Given the description of an element on the screen output the (x, y) to click on. 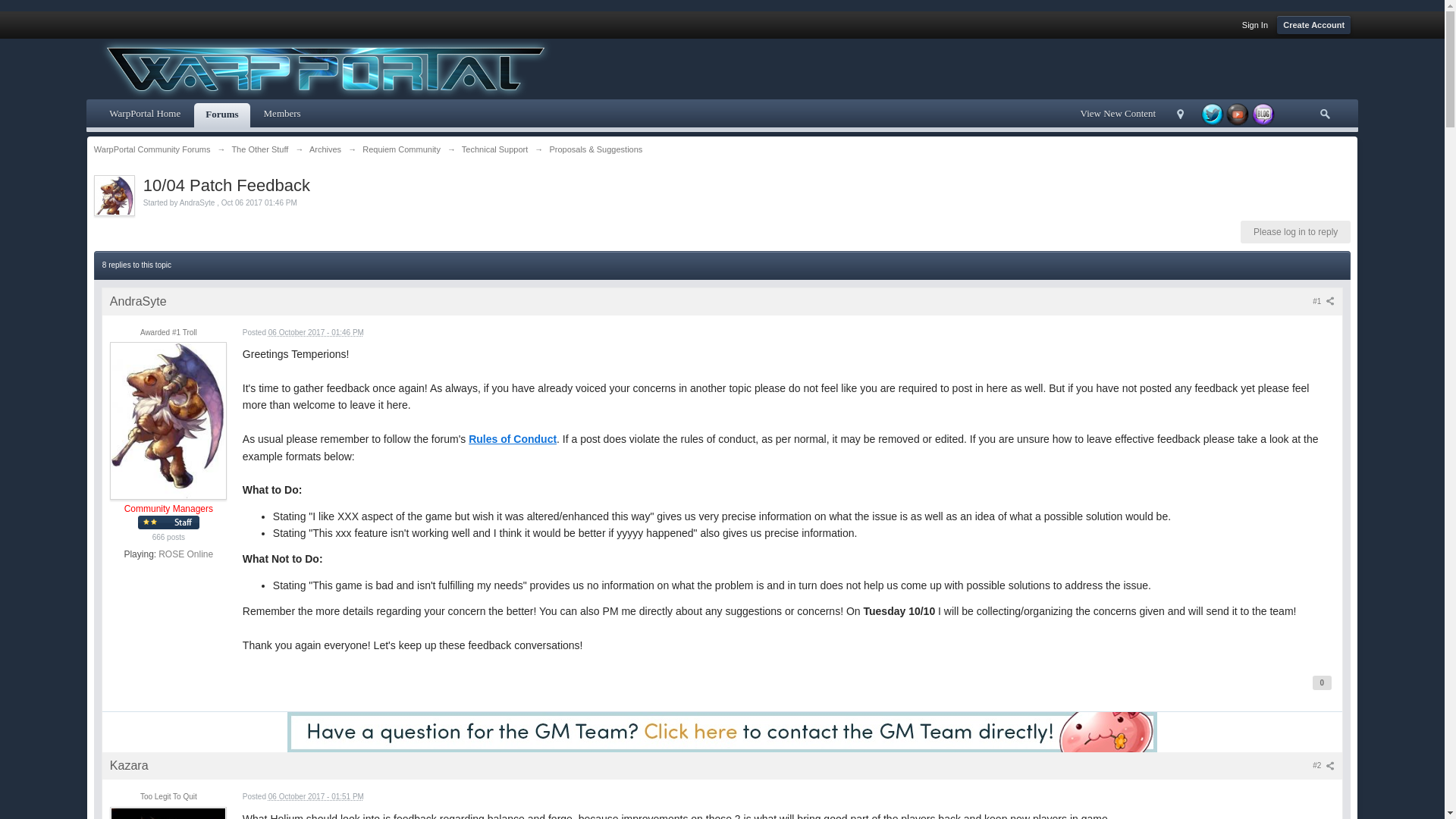
Open Quick Navigation (1180, 113)
WarpPortal Community Forums (152, 148)
Warpportal (1212, 112)
Technical Support (494, 148)
Rules of Conduct (512, 439)
Archives (324, 148)
Warpportal on Youtube (1237, 112)
Go to community index (325, 67)
Forums (220, 115)
The Other Stuff (259, 148)
Create Account (1313, 24)
Members (282, 114)
Warpportal (1263, 112)
